Given the description of an element on the screen output the (x, y) to click on. 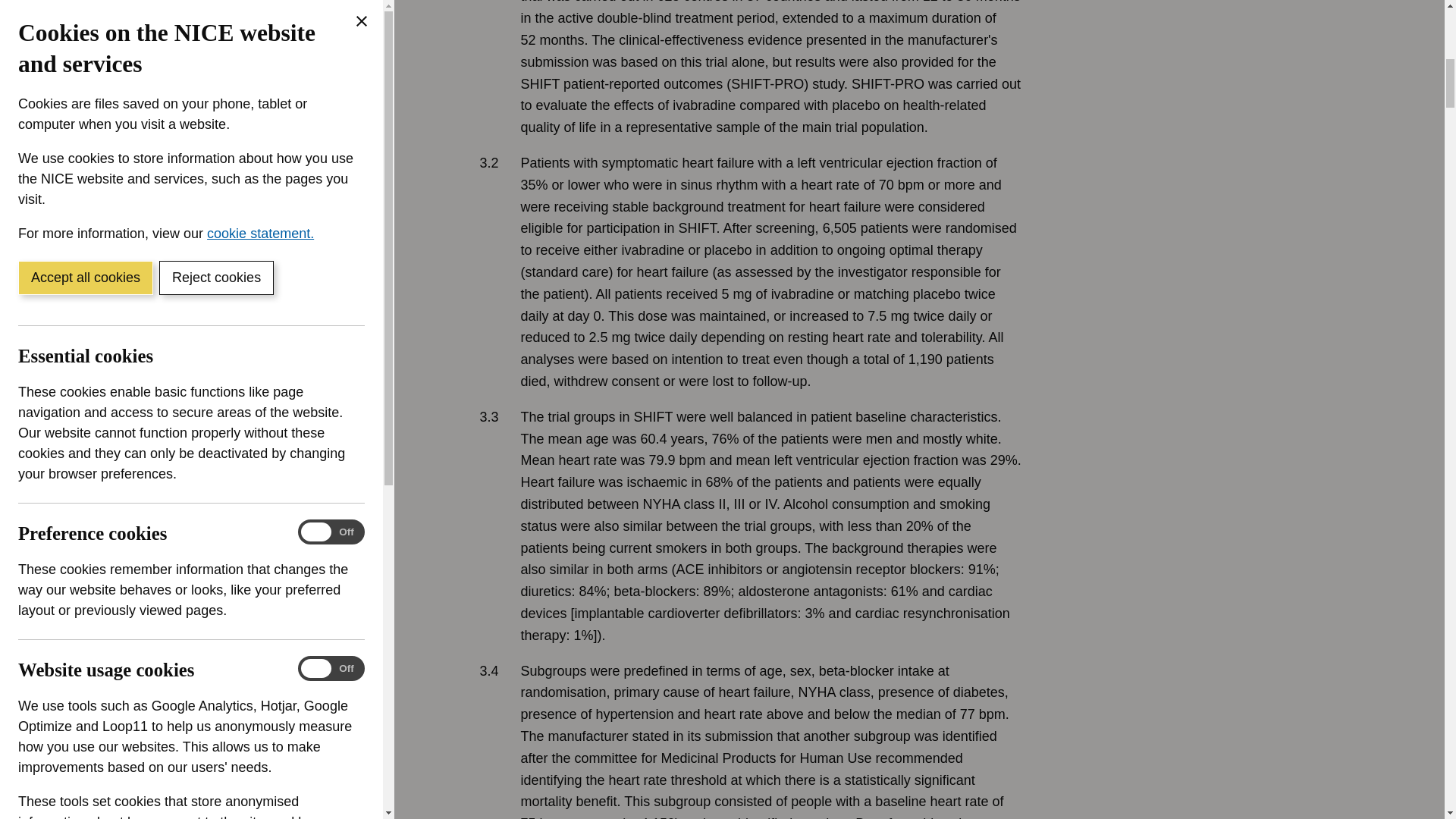
Show vendors within this category (130, 427)
Show vendors within this category (130, 63)
